Given the description of an element on the screen output the (x, y) to click on. 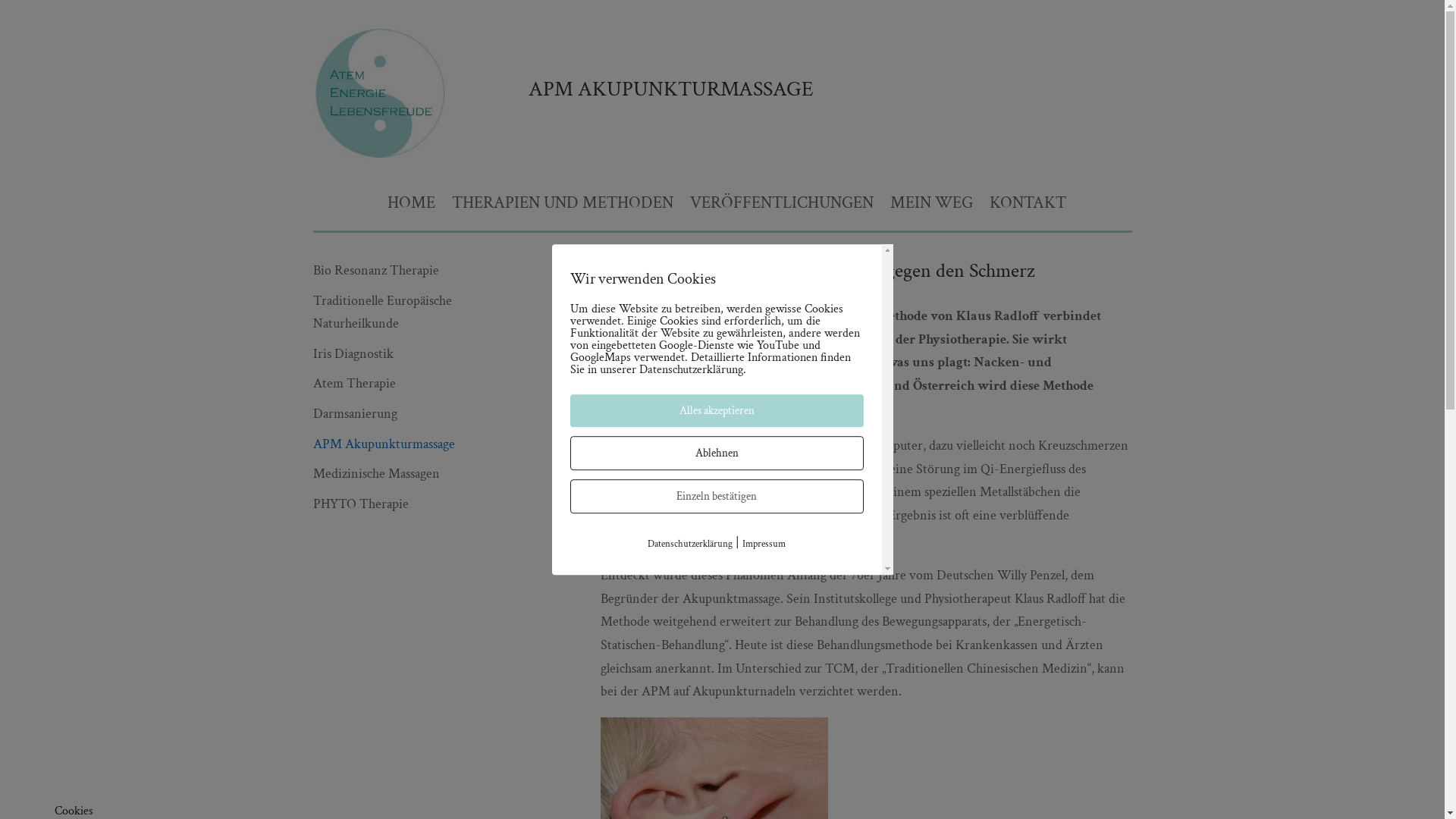
Ablehnen Element type: text (716, 453)
APM Akupunkturmassage Element type: text (383, 443)
THERAPIEN UND METHODEN Element type: text (562, 213)
Darmsanierung Element type: text (354, 413)
HOME Element type: text (410, 213)
Medizinische Massagen Element type: text (375, 473)
KONTAKT Element type: text (1026, 213)
Iris Diagnostik Element type: text (352, 353)
Bio Resonanz Therapie Element type: text (375, 270)
Atem Therapie Element type: text (353, 383)
PHYTO Therapie Element type: text (359, 503)
Alles akzeptieren Element type: text (716, 410)
Impressum Element type: text (763, 543)
MEIN WEG Element type: text (931, 213)
